Given the description of an element on the screen output the (x, y) to click on. 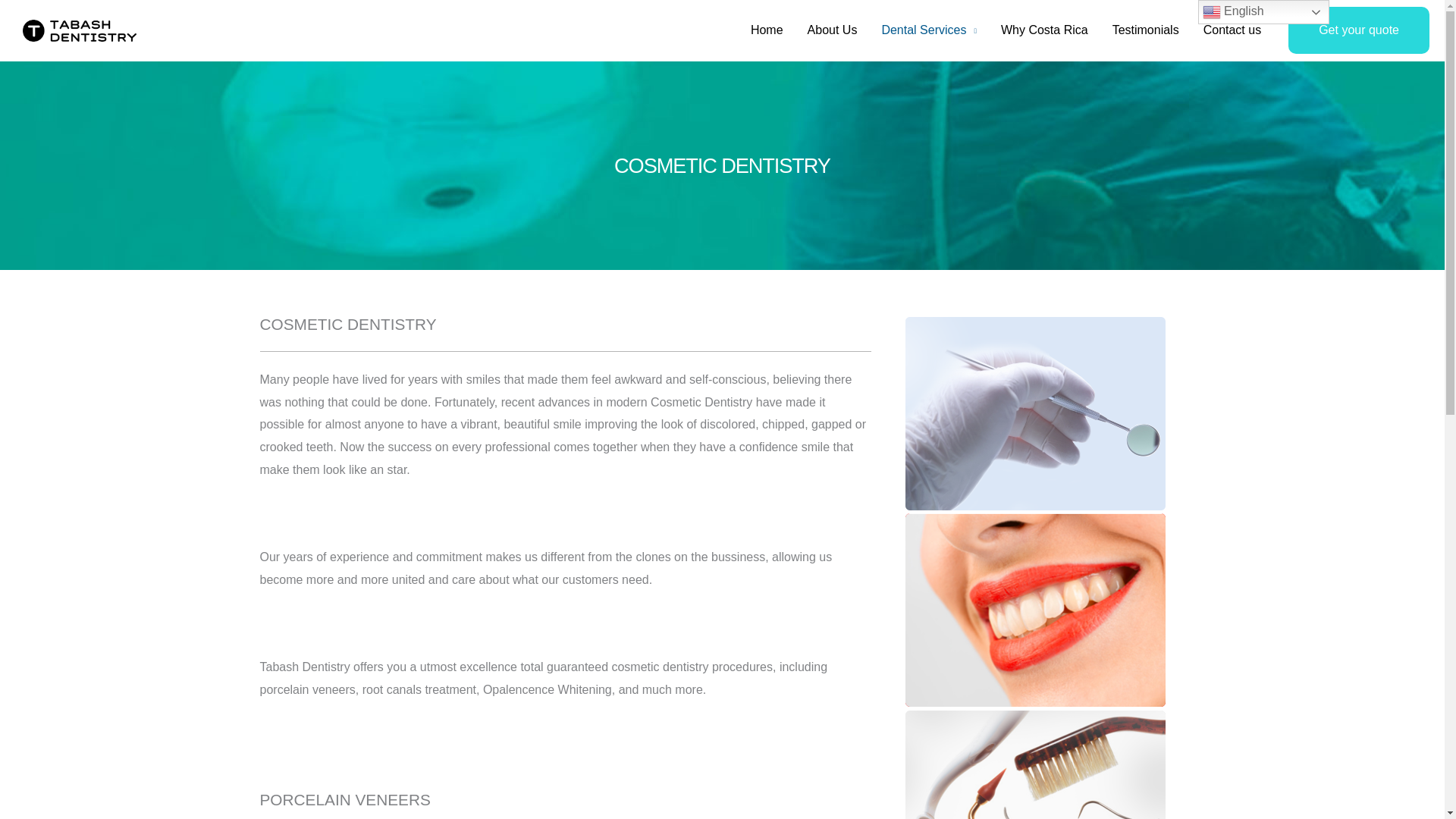
Contact us (1231, 30)
Get your quote (1358, 30)
Why Costa Rica (1044, 30)
Home (766, 30)
About Us (831, 30)
Testimonials (1145, 30)
Dental Services (928, 30)
